Given the description of an element on the screen output the (x, y) to click on. 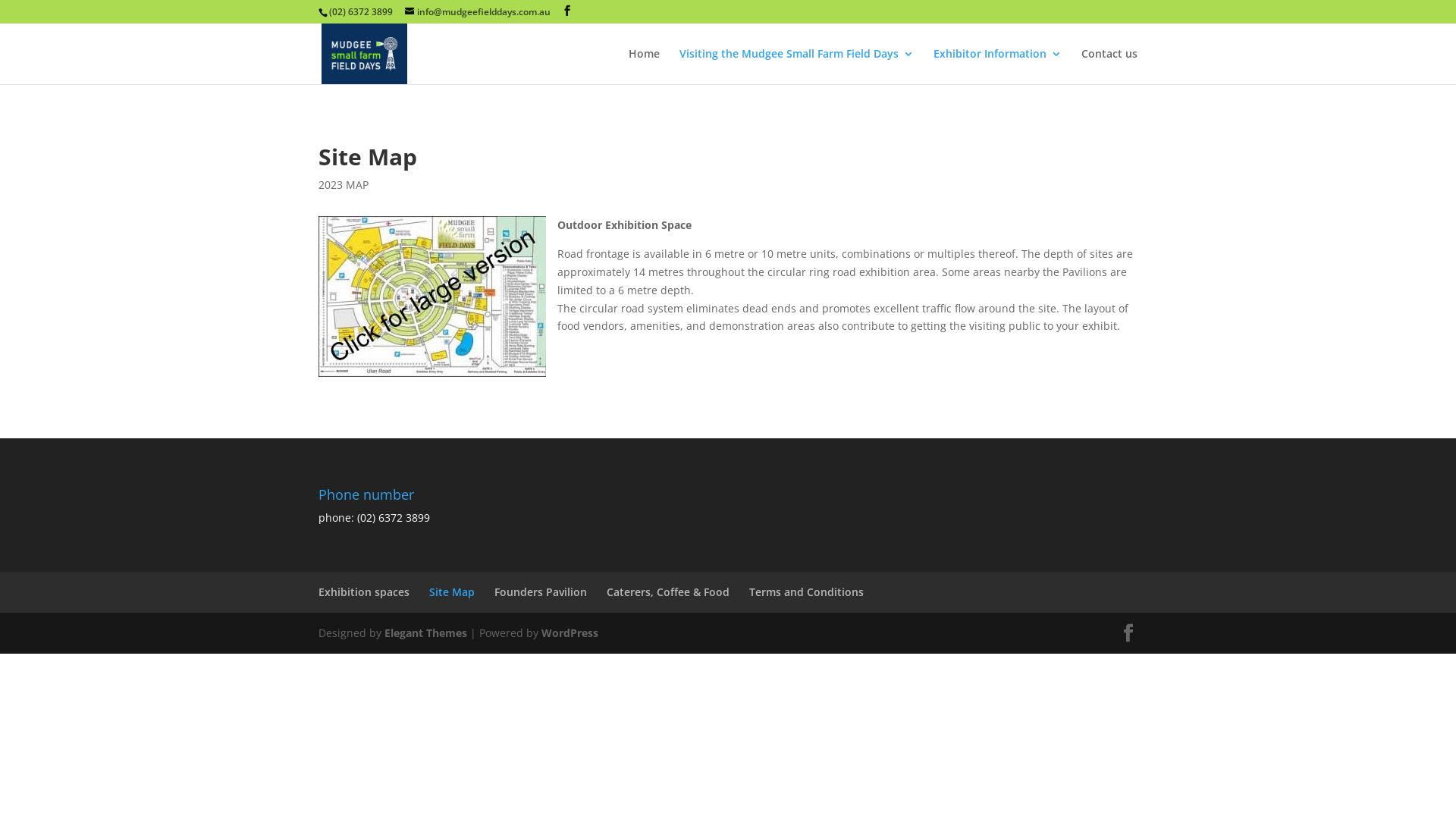
info@mudgeefielddays.com.au Element type: text (477, 11)
Home Element type: text (643, 66)
Contact us Element type: text (1109, 66)
Founders Pavilion Element type: text (540, 591)
Site Map Element type: text (451, 591)
WordPress Element type: text (569, 632)
Exhibitor Information Element type: text (997, 66)
Terms and Conditions Element type: text (806, 591)
Caterers, Coffee & Food Element type: text (667, 591)
Exhibition spaces Element type: text (363, 591)
Elegant Themes Element type: text (425, 632)
Visiting the Mudgee Small Farm Field Days Element type: text (796, 66)
